Given the description of an element on the screen output the (x, y) to click on. 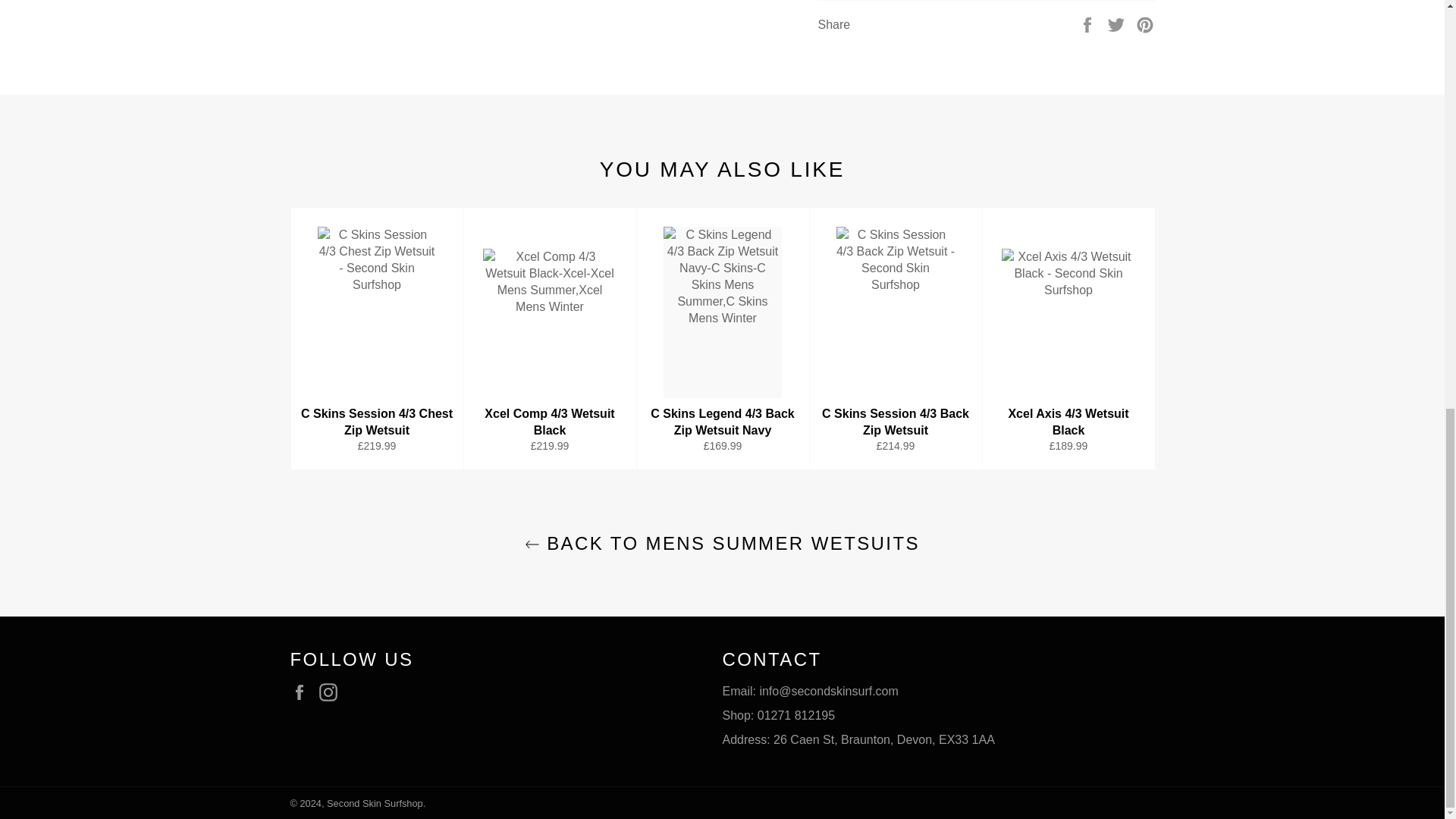
Share on Facebook (1088, 23)
Tweet on Twitter (1117, 23)
Second Skin Surfshop on Instagram (331, 692)
Second Skin Surfshop on Facebook (302, 692)
Pin on Pinterest (1144, 23)
